Given the description of an element on the screen output the (x, y) to click on. 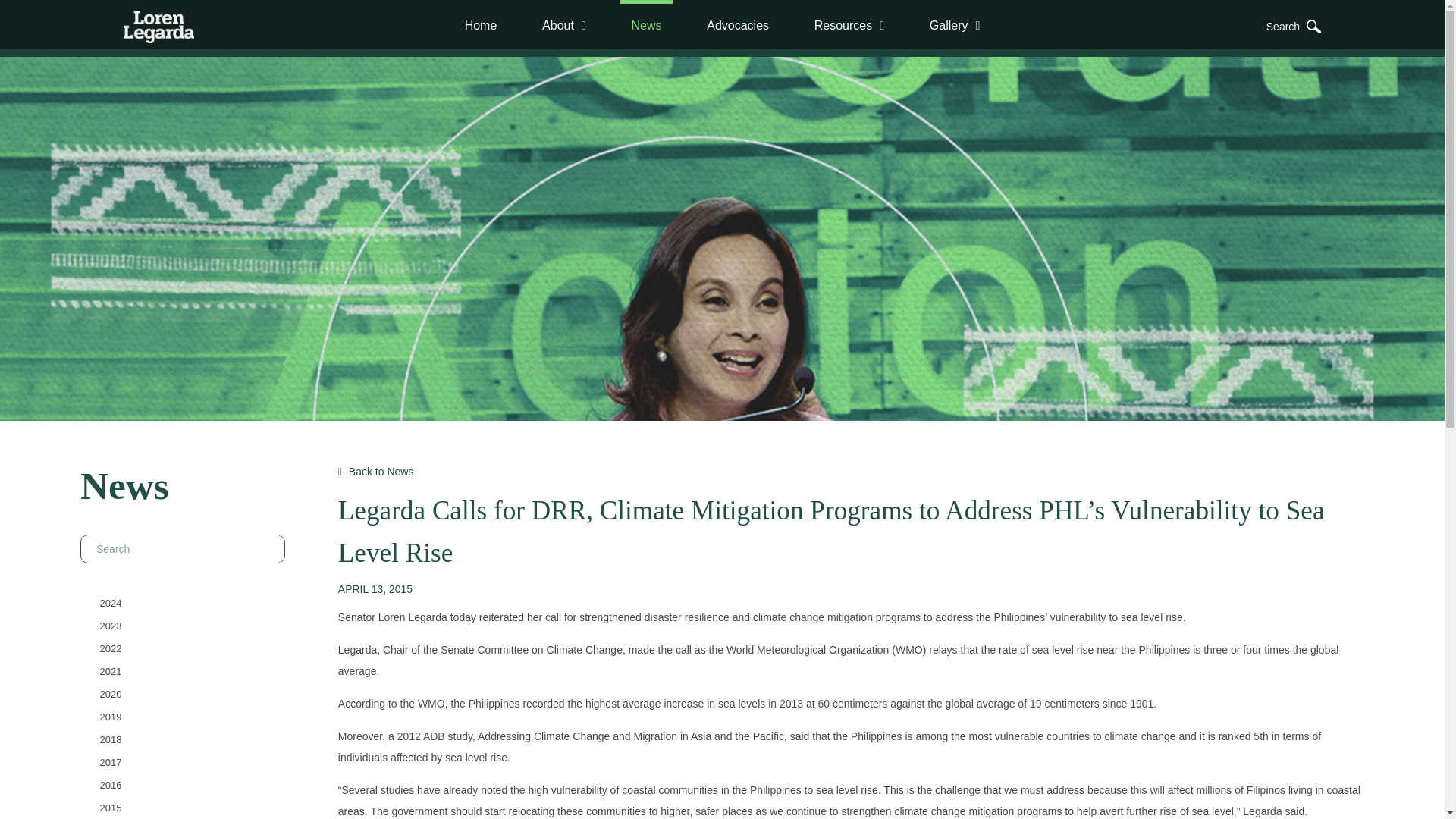
Home (480, 25)
Advocacies (737, 25)
News (646, 23)
About (563, 25)
2023 (110, 624)
2022 (110, 647)
Gallery (954, 25)
2024 (110, 601)
Resources (849, 25)
